Given the description of an element on the screen output the (x, y) to click on. 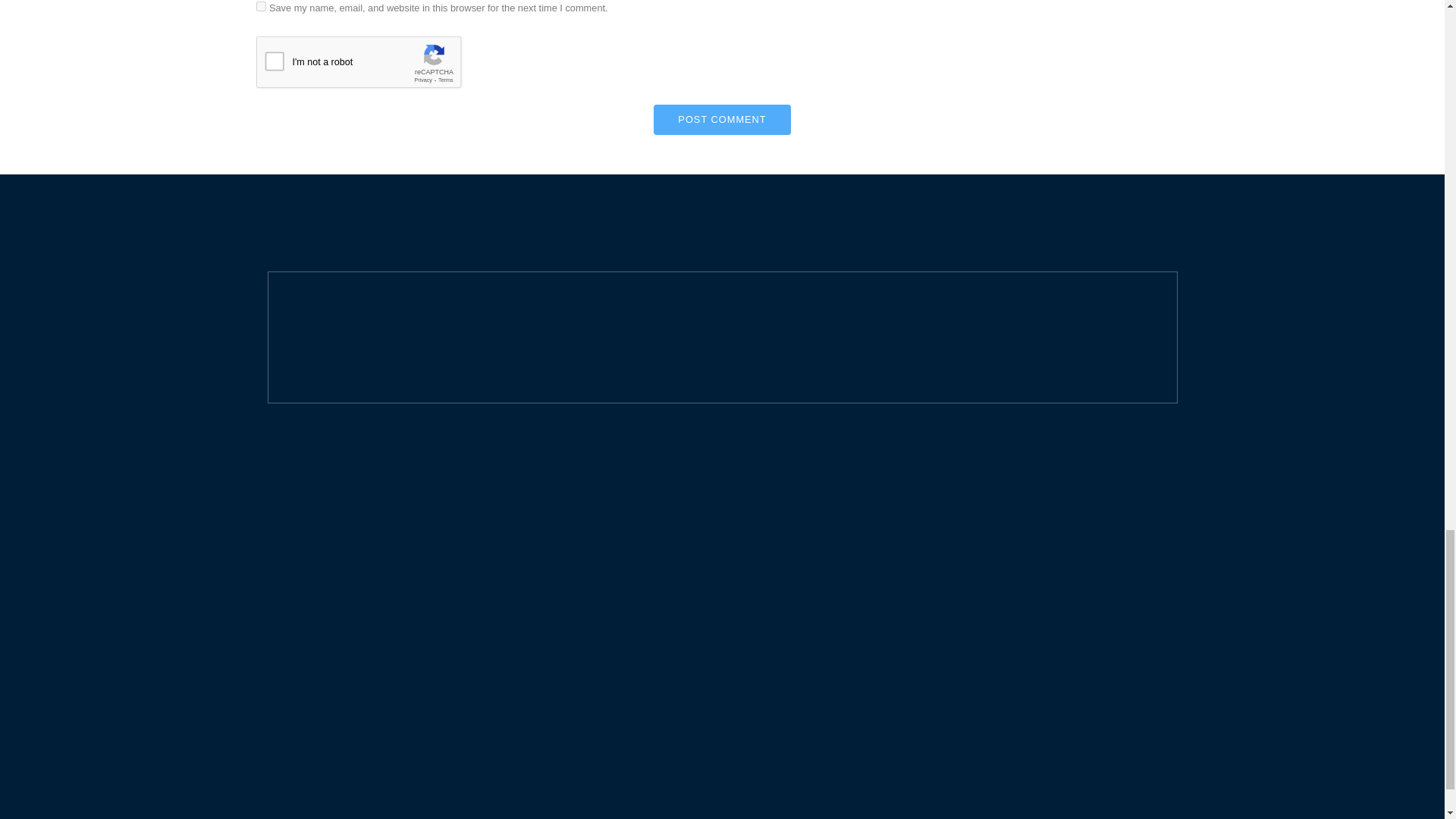
yes (261, 6)
POST COMMENT (721, 119)
reCAPTCHA (371, 65)
